Given the description of an element on the screen output the (x, y) to click on. 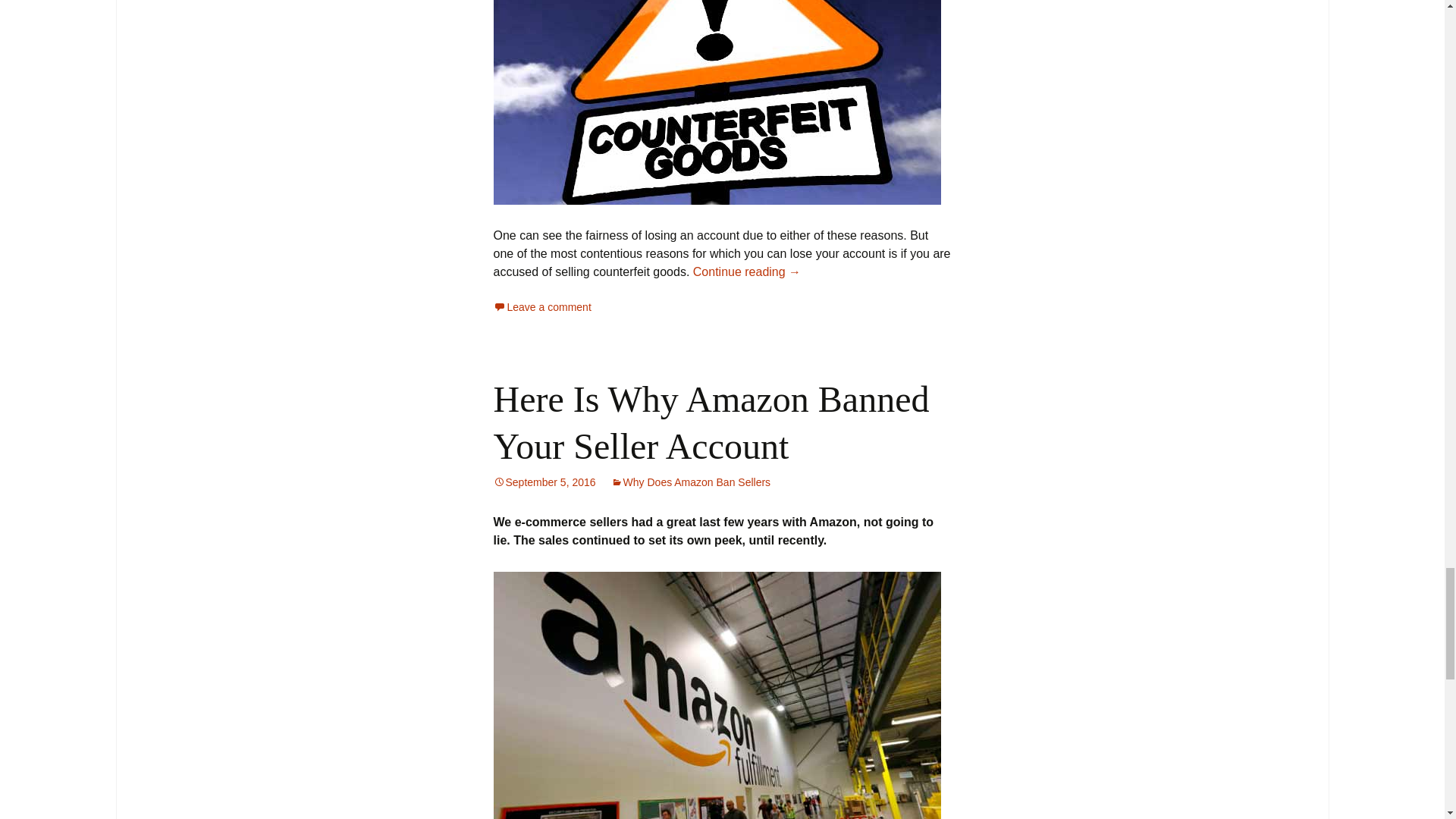
Permalink to Here Is Why Amazon Banned Your Seller Account (544, 481)
